Given the description of an element on the screen output the (x, y) to click on. 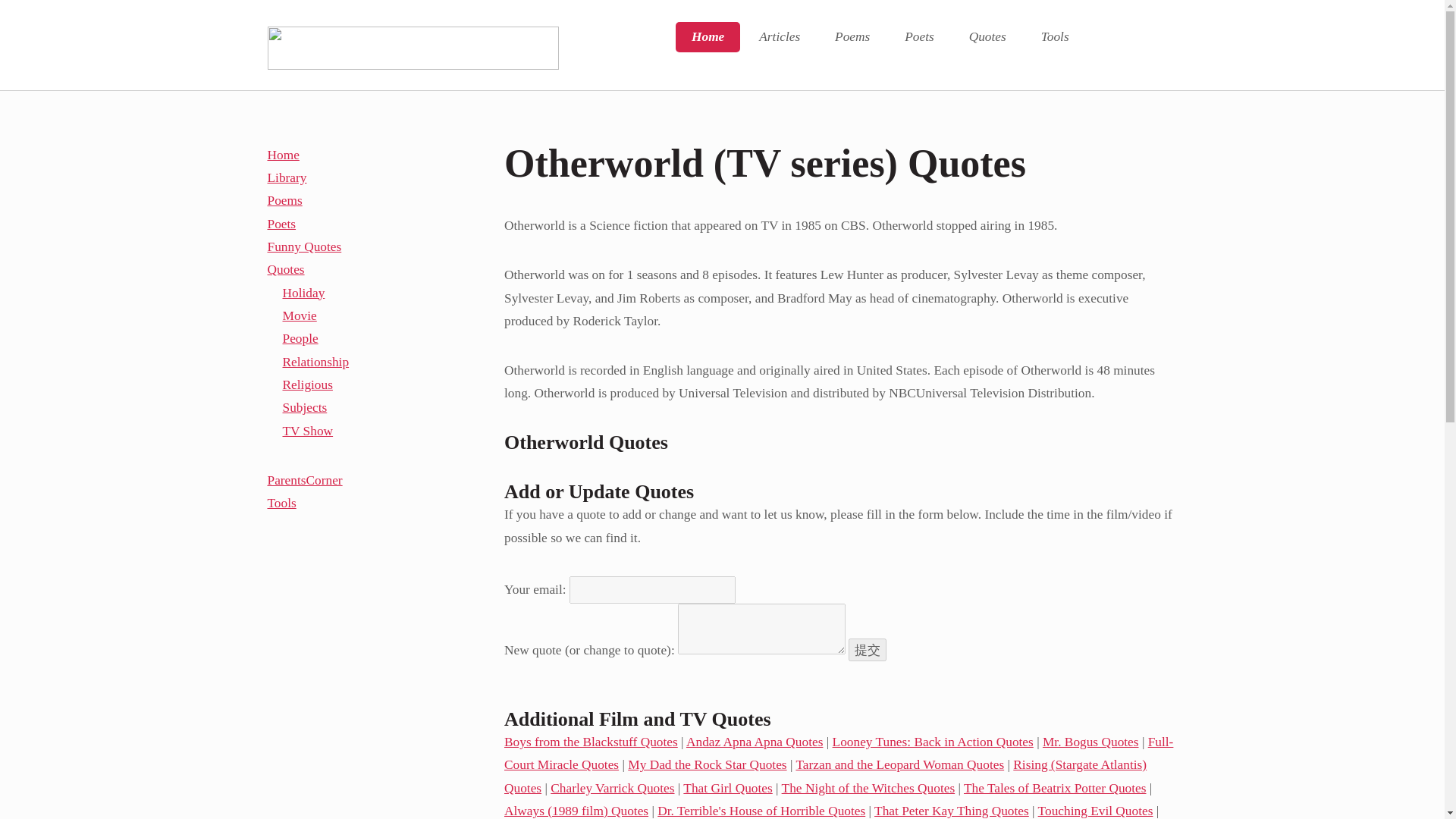
Poems (851, 37)
Articles (778, 37)
Poets (918, 37)
Home (707, 37)
Quotes (987, 37)
